Given the description of an element on the screen output the (x, y) to click on. 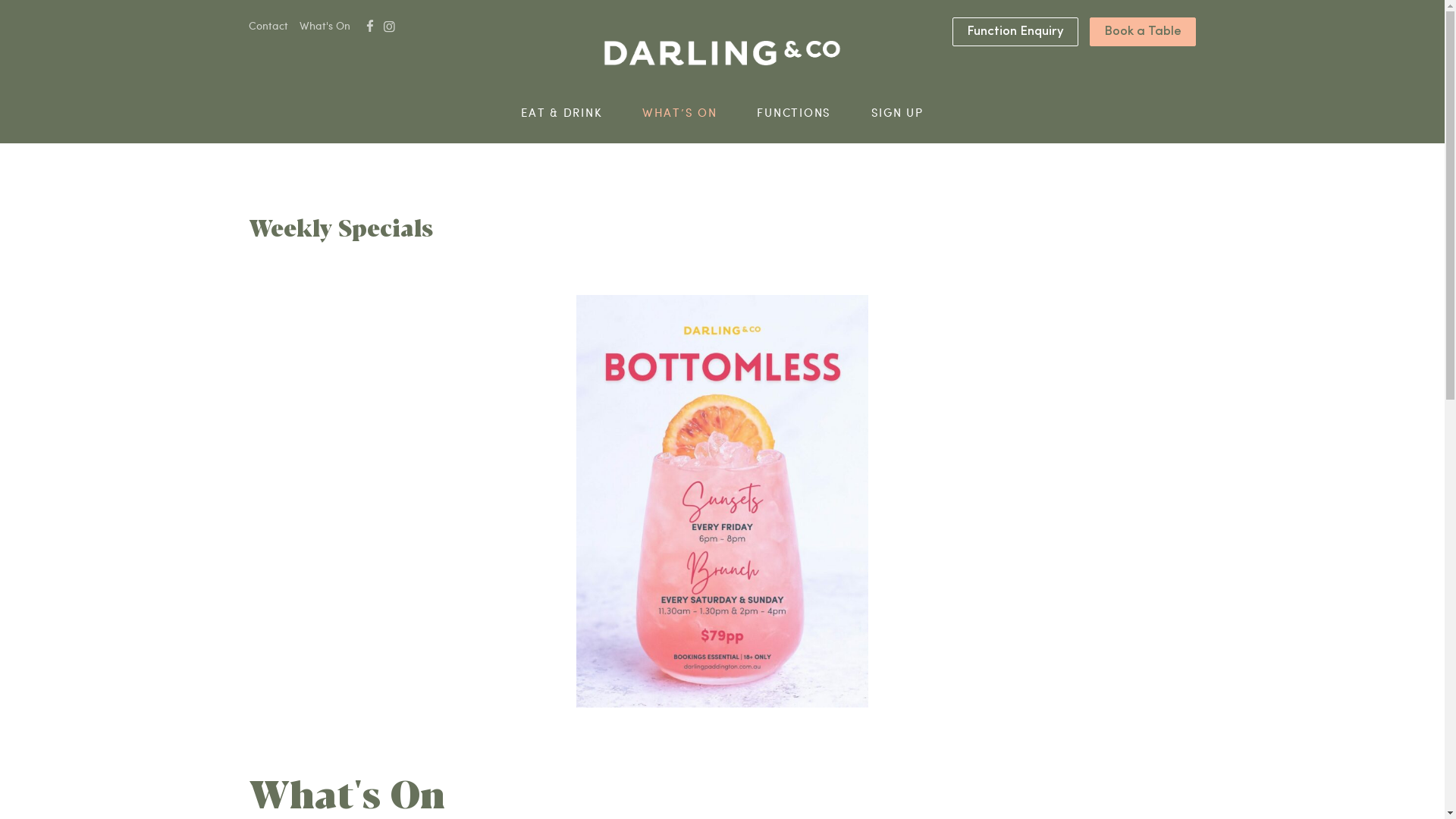
Darling & Co Element type: hover (721, 52)
Book a Table Element type: text (1142, 30)
SIGN UP Element type: text (897, 112)
What's On Element type: text (323, 26)
EAT & DRINK Element type: text (561, 112)
Contact Element type: text (268, 26)
FUNCTIONS Element type: text (793, 112)
Function Enquiry Element type: text (1015, 30)
